Given the description of an element on the screen output the (x, y) to click on. 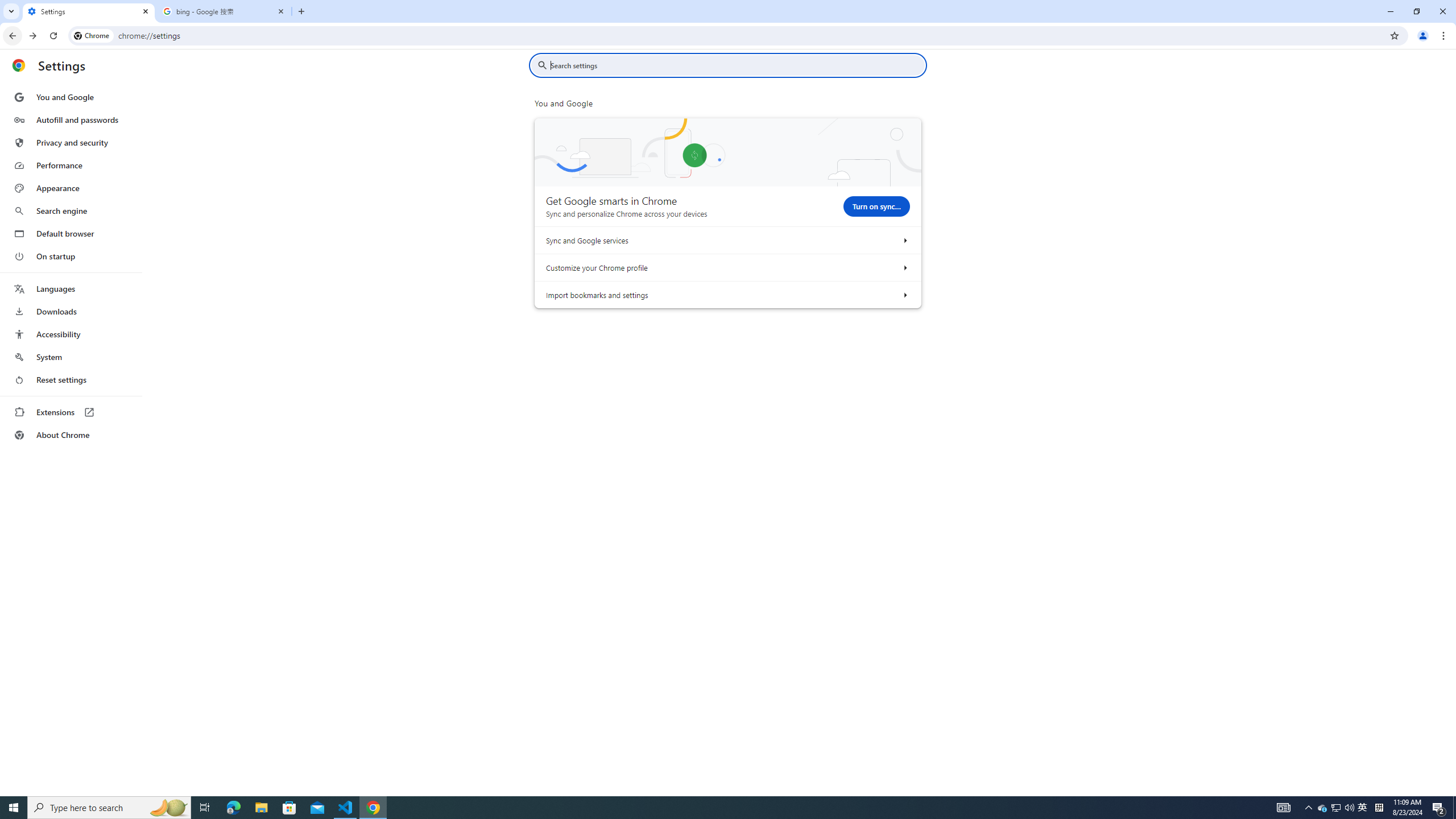
Autofill and passwords (70, 119)
Reset settings (70, 379)
You and Google (70, 96)
About Chrome (70, 434)
Extensions (70, 412)
Customize your Chrome profile (904, 266)
